Given the description of an element on the screen output the (x, y) to click on. 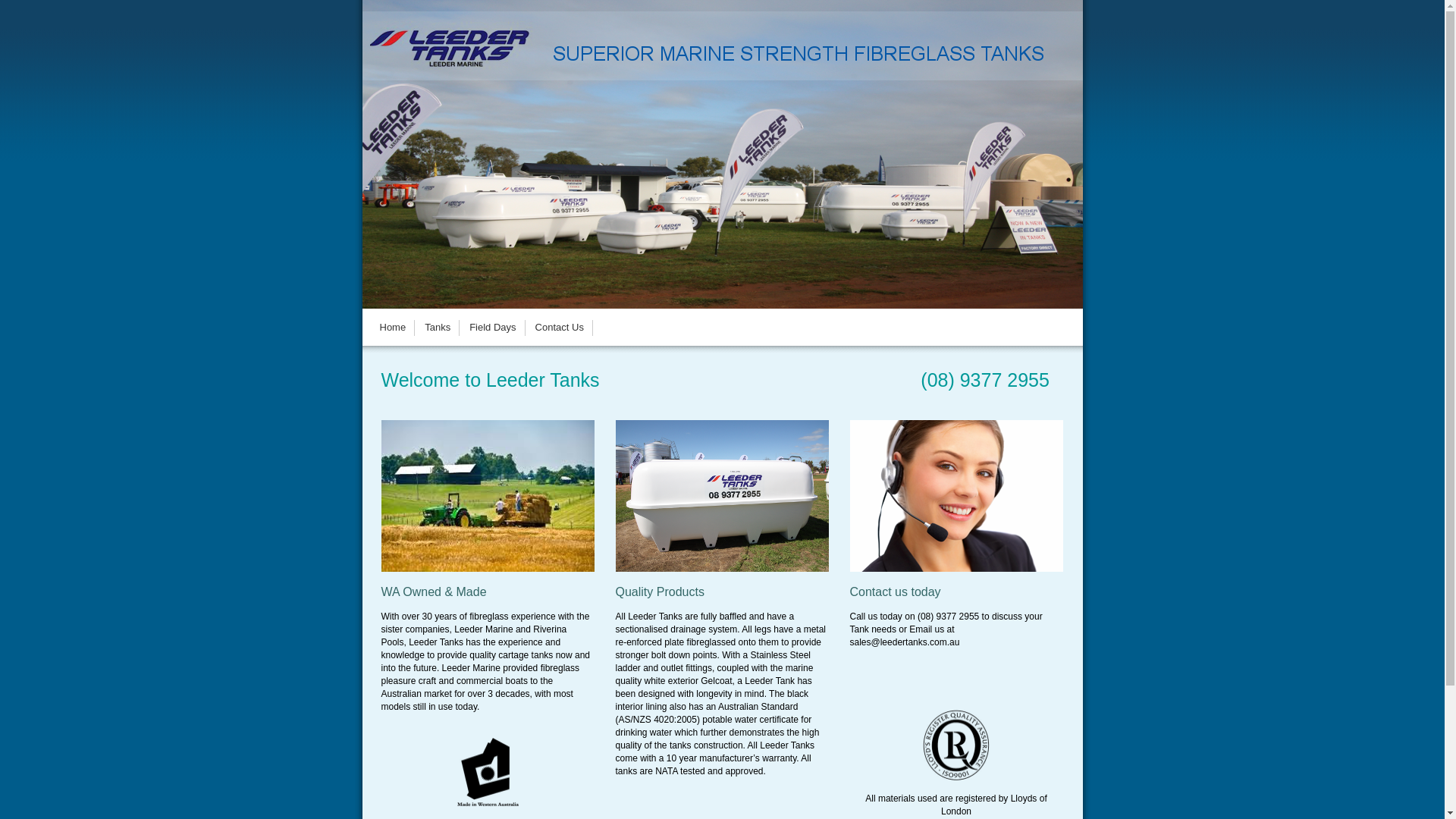
Field Days Element type: text (491, 326)
Tanks Element type: text (436, 326)
Contact Us Element type: text (559, 326)
Home Element type: text (392, 326)
